Given the description of an element on the screen output the (x, y) to click on. 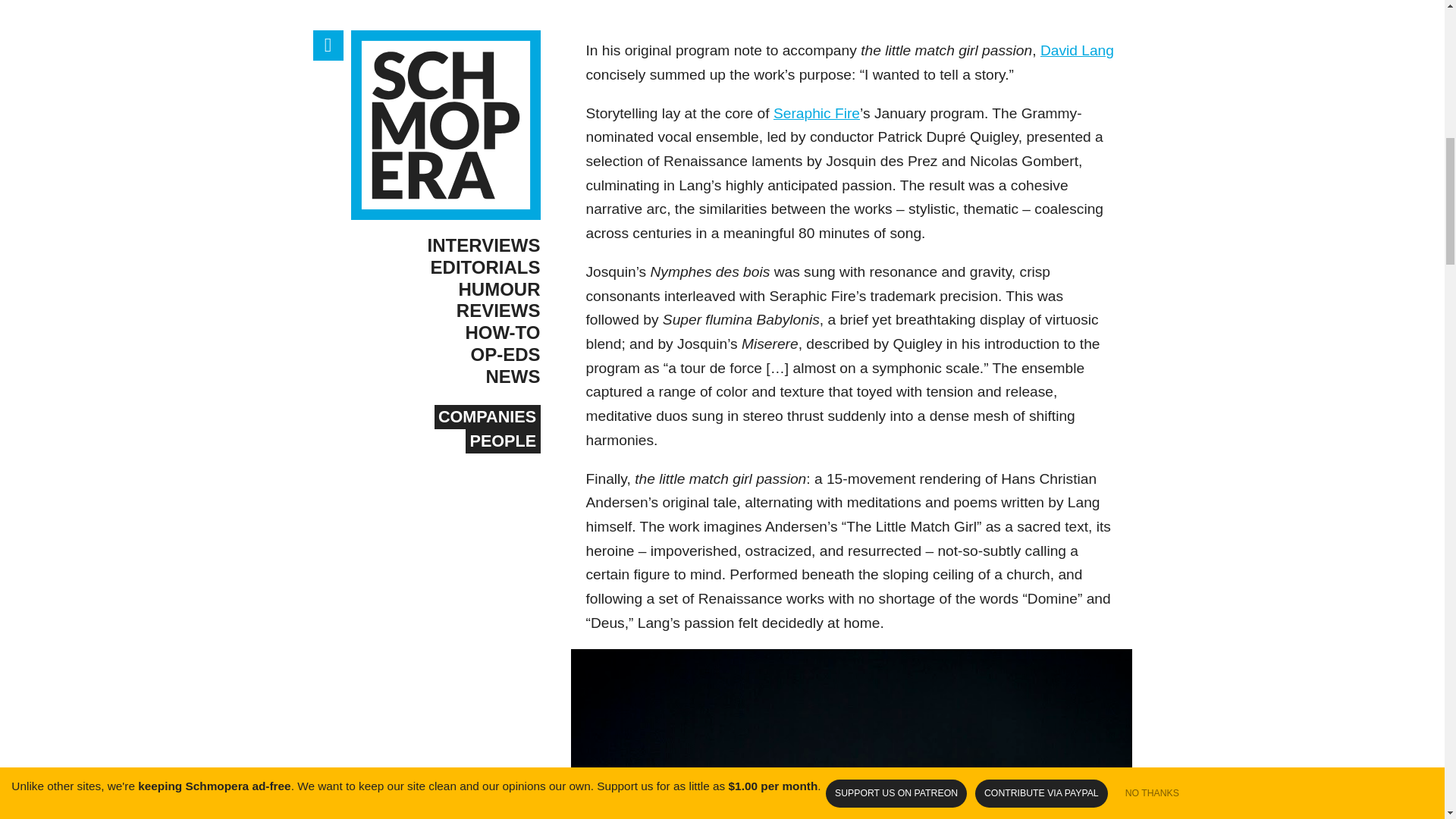
Seraphic Fire (816, 113)
David Lang (1077, 50)
